Given the description of an element on the screen output the (x, y) to click on. 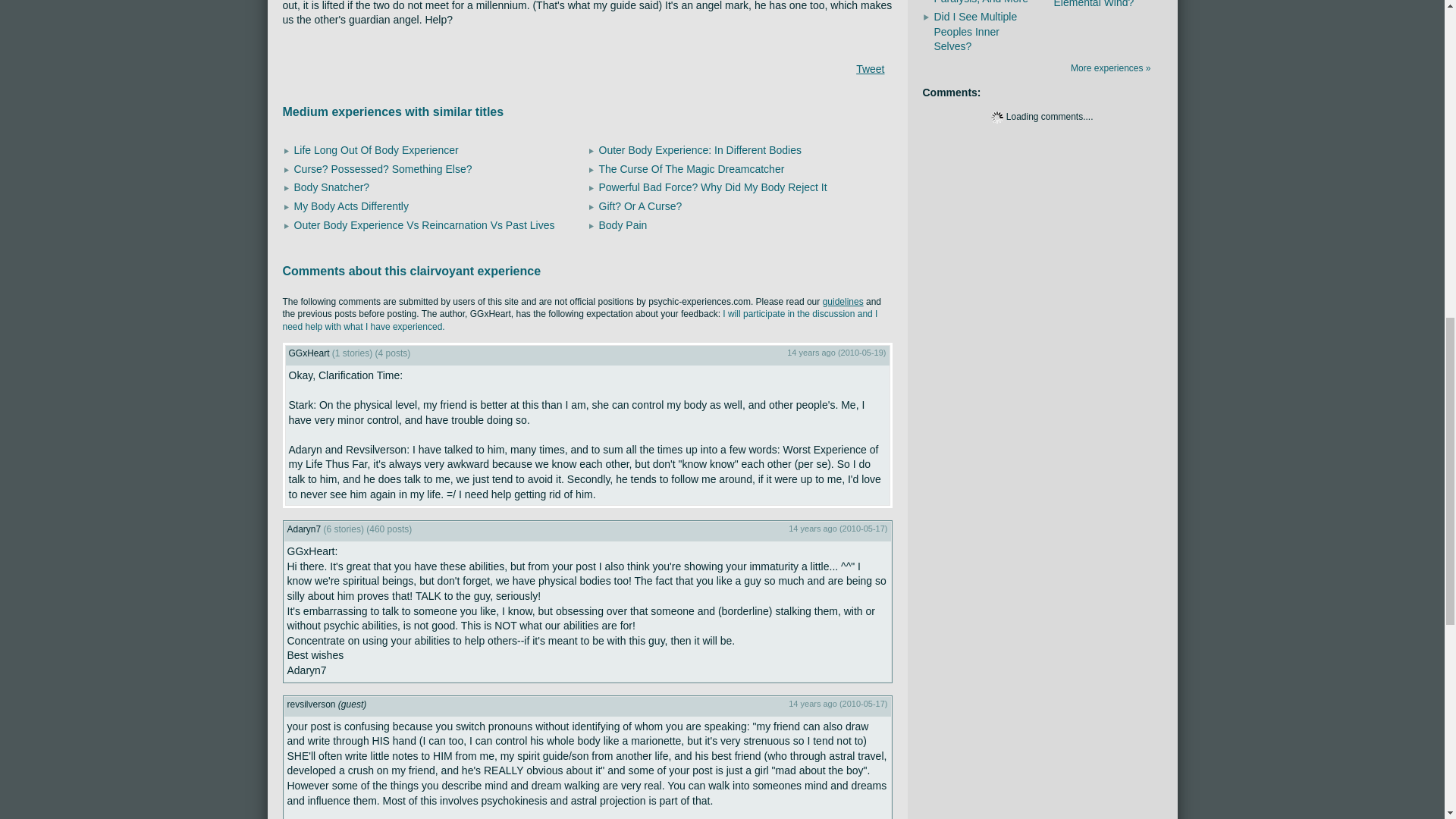
Outer Body Experience: In Different Bodies (700, 150)
Curse? Possessed? Something Else? (382, 168)
Outer Body Experience Vs Reincarnation Vs Past Lives (424, 224)
Powerful Bad Force? Why Did My Body Reject It (712, 186)
Tweet (869, 69)
Body Snatcher? (331, 186)
Life Long Out Of Body Experiencer (376, 150)
My Body Acts Differently (351, 205)
Gift? Or A Curse? (640, 205)
The Curse Of The Magic Dreamcatcher (691, 168)
